Given the description of an element on the screen output the (x, y) to click on. 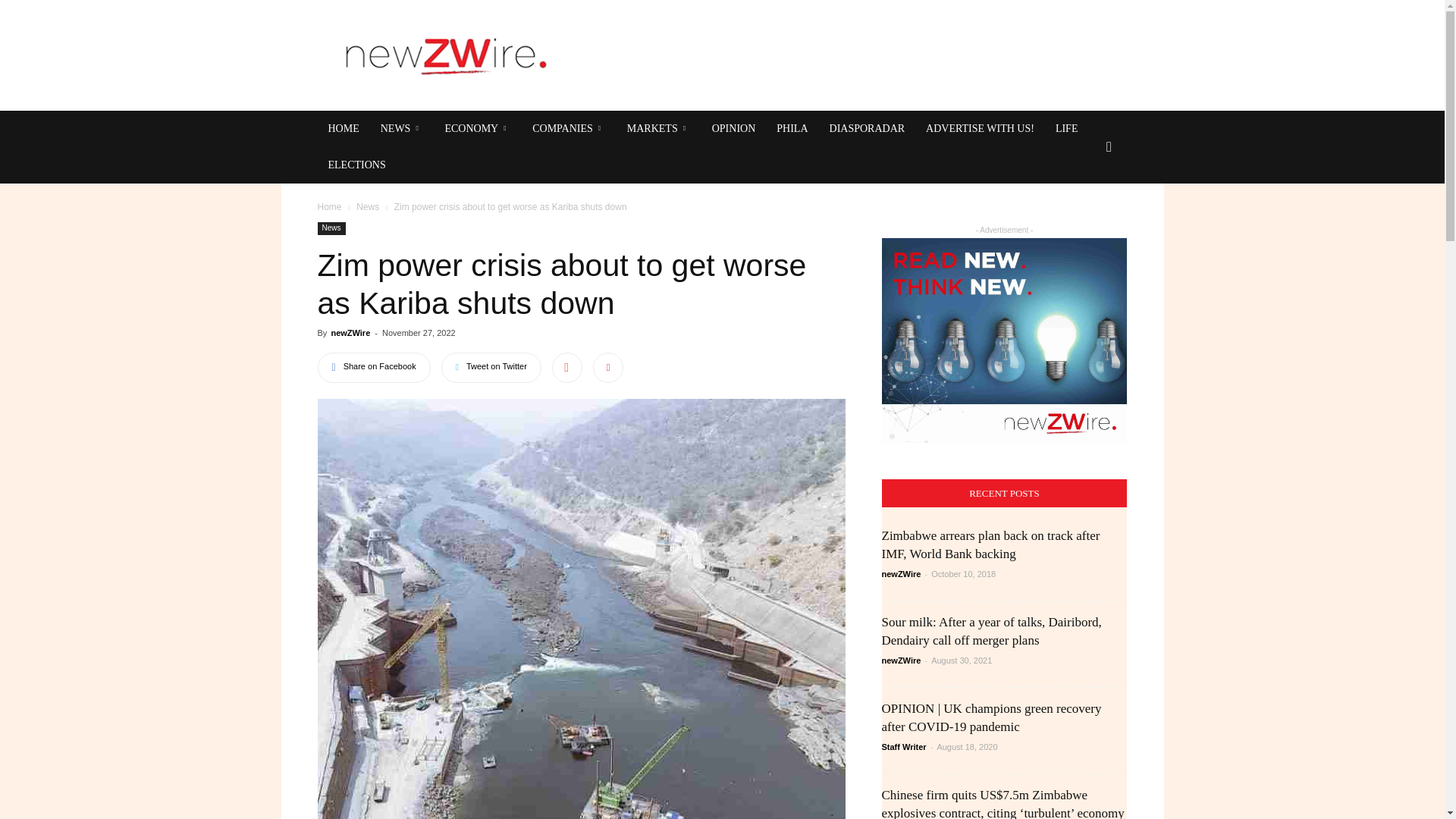
HOME (343, 128)
NEWS (401, 128)
Advertisement (850, 55)
